Given the description of an element on the screen output the (x, y) to click on. 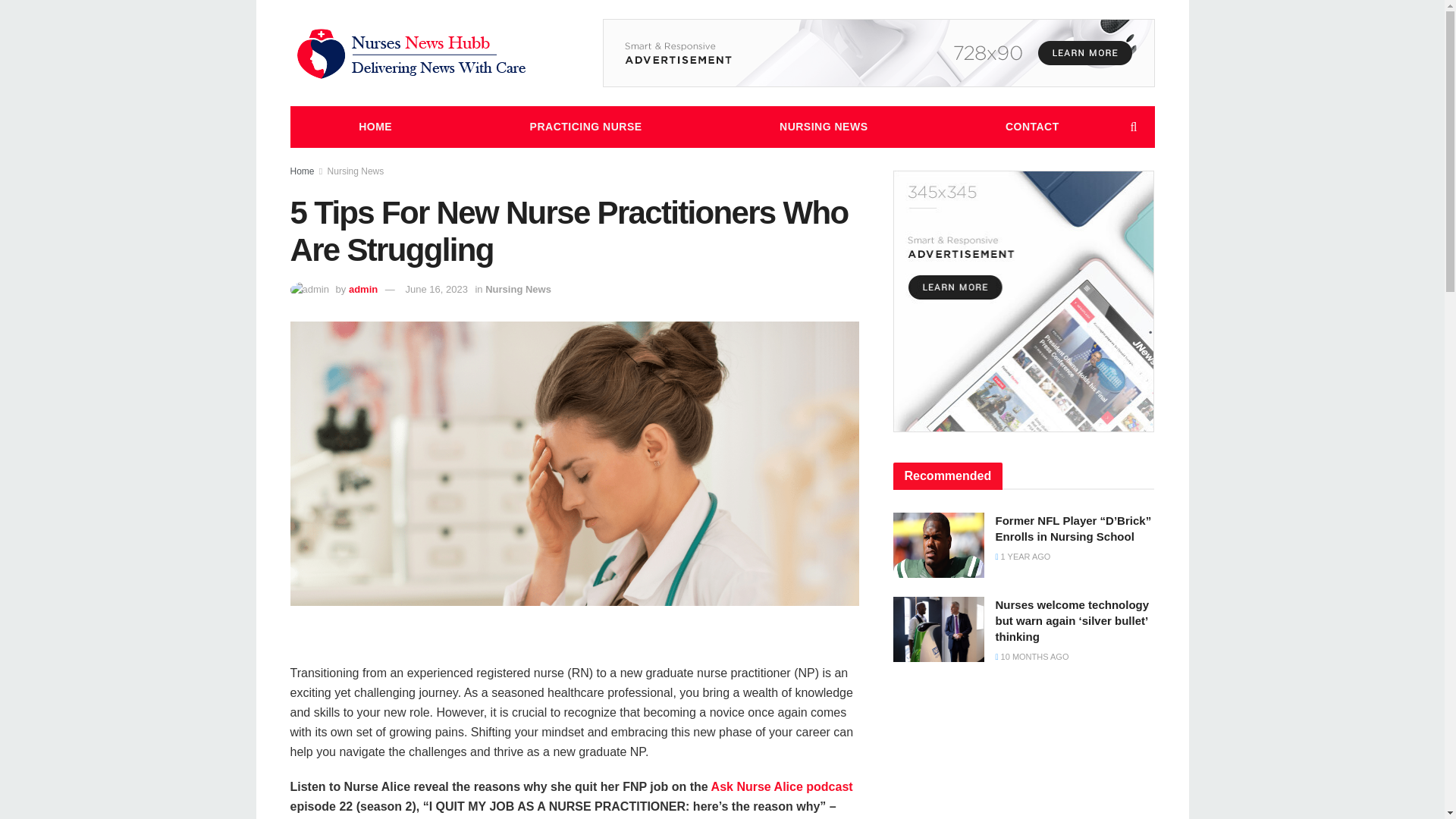
NURSING NEWS (823, 127)
Nursing News (355, 171)
admin (363, 288)
Ask Nurse Alice podcast (780, 786)
Nursing News (517, 288)
PRACTICING NURSE (585, 127)
June 16, 2023 (435, 288)
CONTACT (1031, 127)
1 YEAR AGO (1021, 556)
Home (301, 171)
HOME (374, 127)
